Given the description of an element on the screen output the (x, y) to click on. 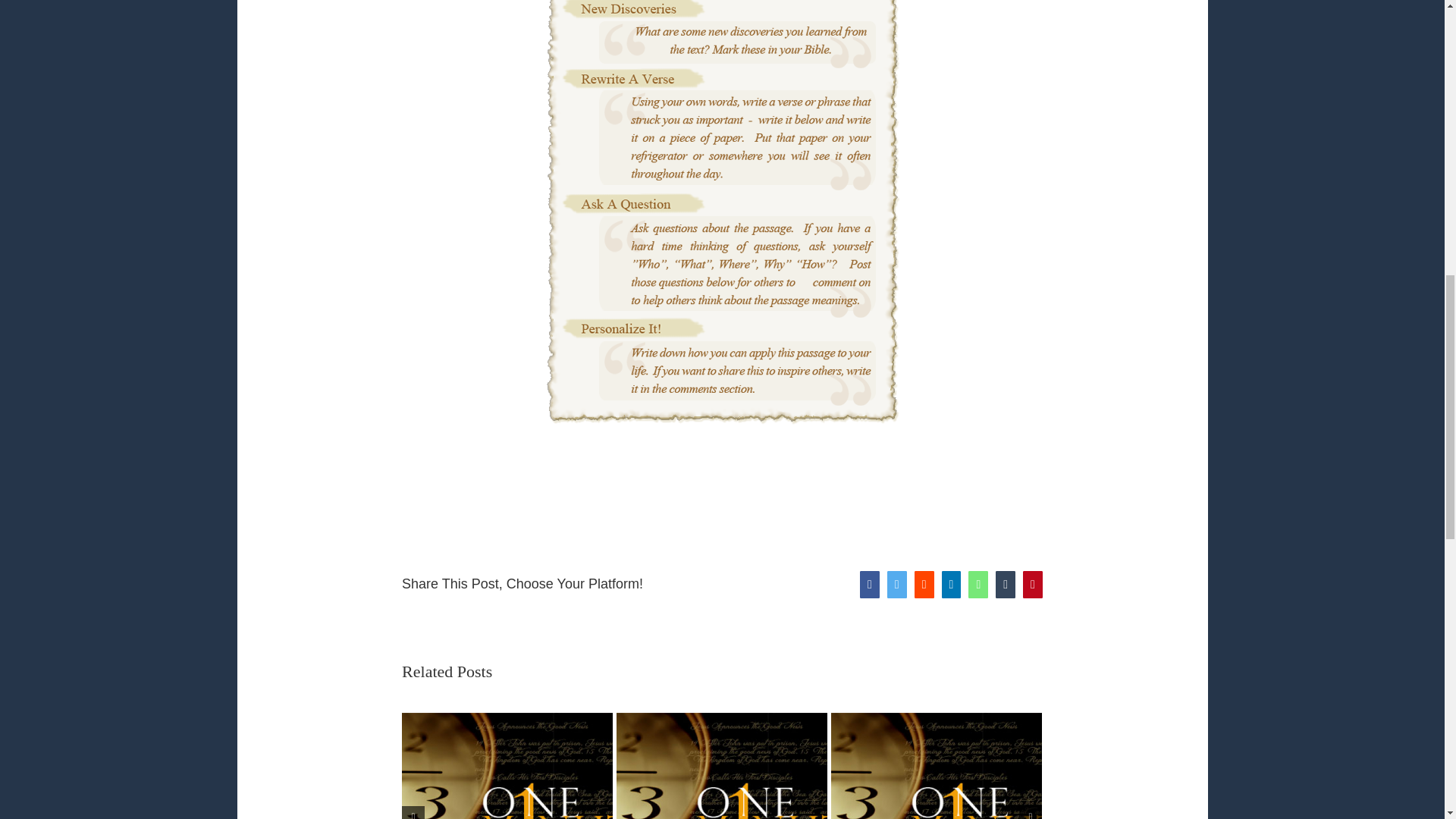
LinkedIn (951, 584)
Tumblr (1004, 584)
Twitter (896, 584)
Pinterest (1032, 584)
Reddit (924, 584)
Facebook (869, 584)
WhatsApp (978, 584)
